Given the description of an element on the screen output the (x, y) to click on. 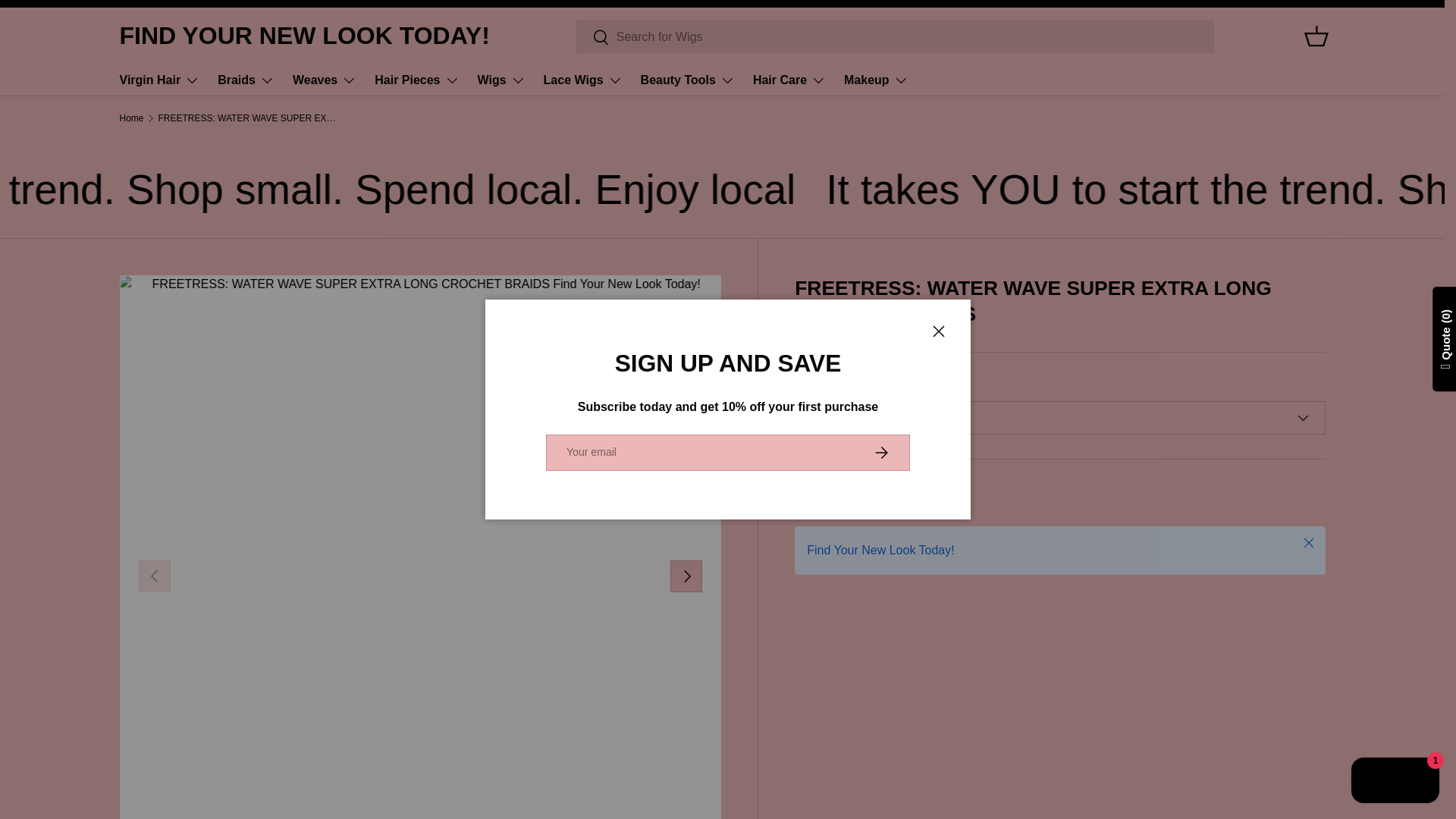
SKIP TO CONTENT (68, 21)
Hair Pieces (416, 80)
Virgin Hair (159, 80)
Wigs (501, 80)
Lace Wigs (583, 80)
Basket (1316, 36)
FIND YOUR NEW LOOK TODAY! (304, 36)
Weaves (324, 80)
Braids (245, 80)
Search (592, 37)
